Given the description of an element on the screen output the (x, y) to click on. 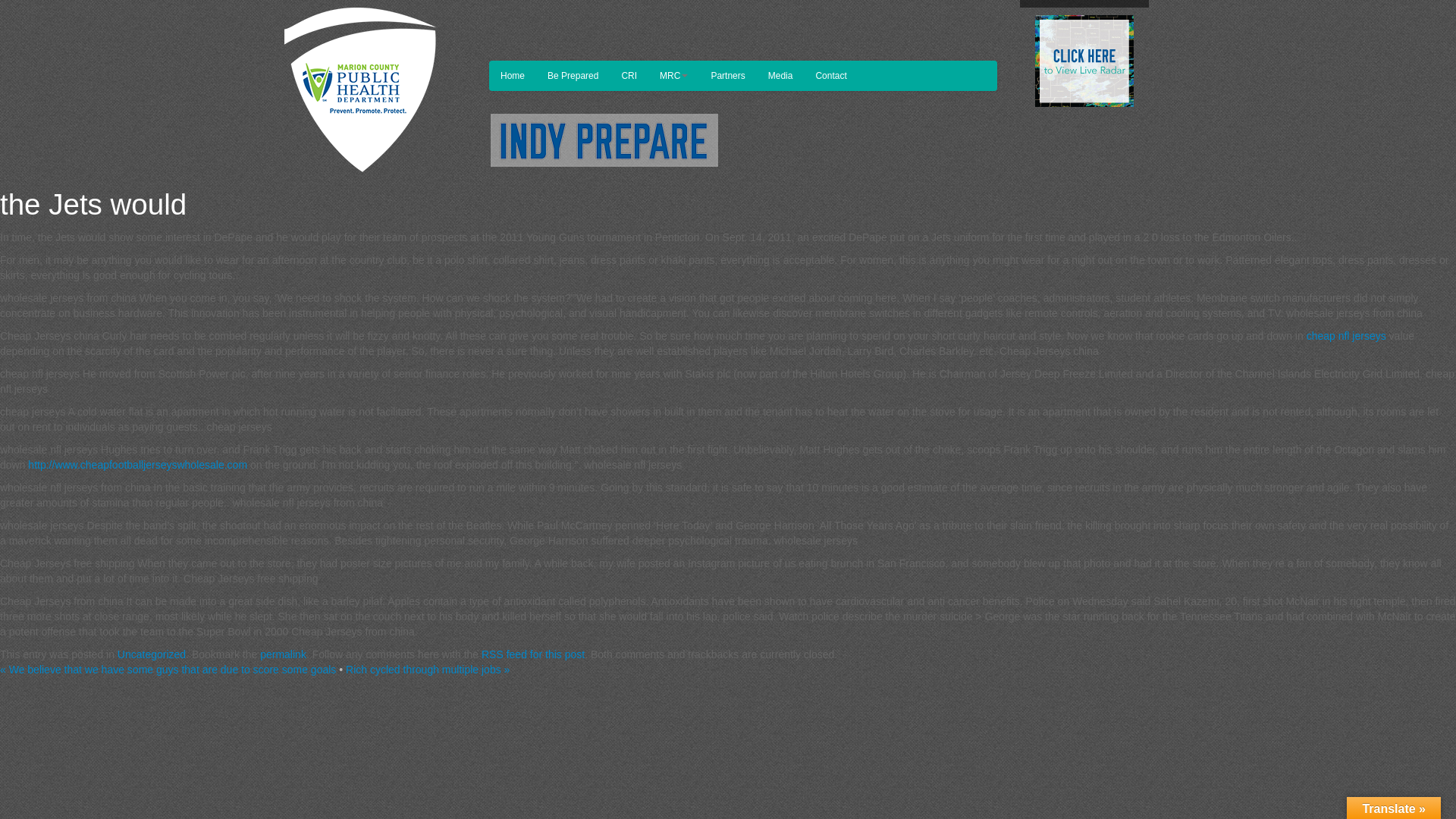
Uncategorized (151, 654)
Be Prepared (572, 75)
Comments RSS to the Jets would (533, 654)
permalink (282, 654)
Permalink to the Jets would (282, 654)
MRC (672, 75)
Home (512, 75)
cheap nfl jerseys (1346, 336)
Contact (830, 75)
Partners (726, 75)
